Given the description of an element on the screen output the (x, y) to click on. 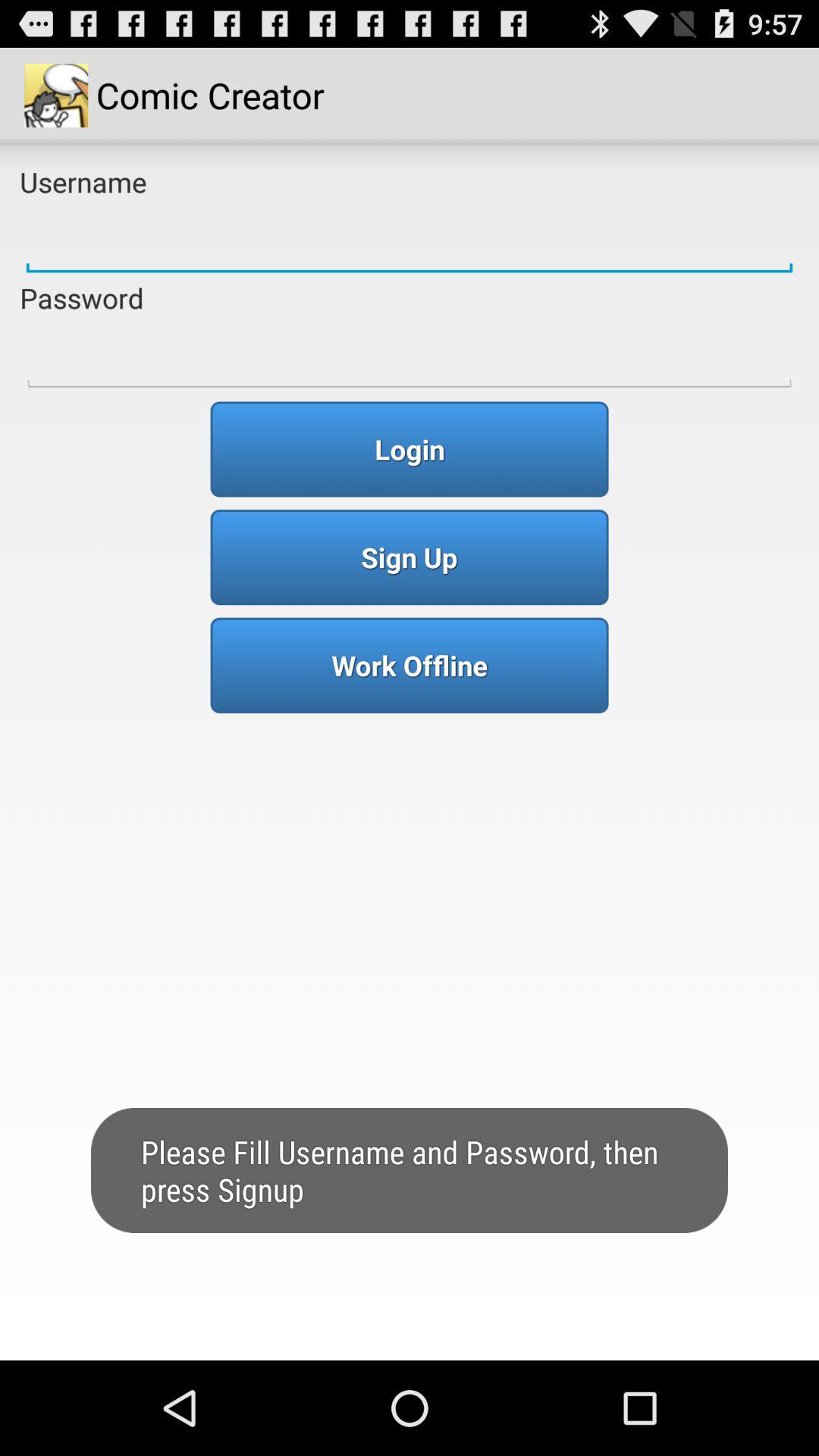
input the username (409, 239)
